Given the description of an element on the screen output the (x, y) to click on. 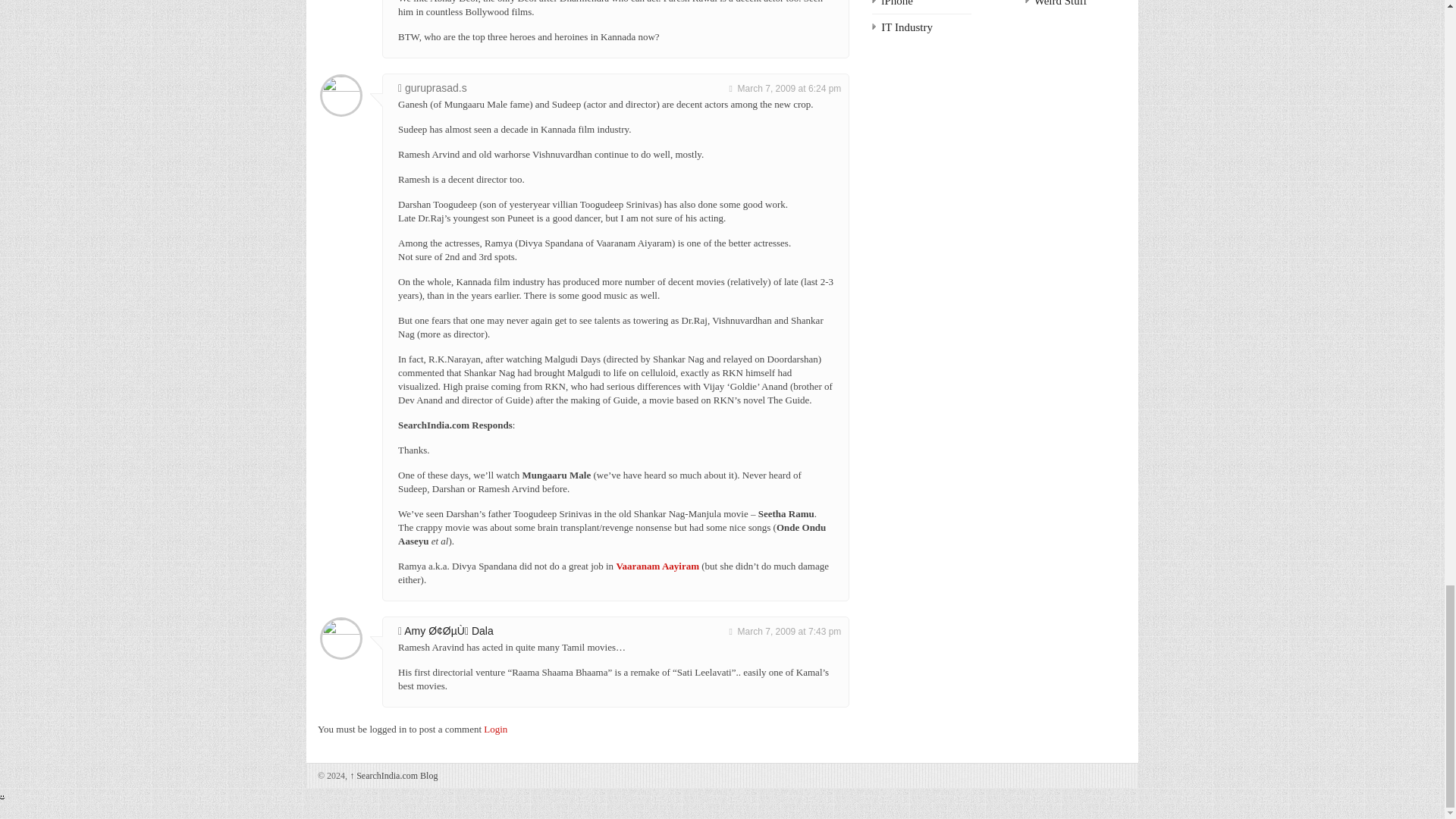
Login (494, 728)
Vaaranam Aayiram (656, 565)
